Given the description of an element on the screen output the (x, y) to click on. 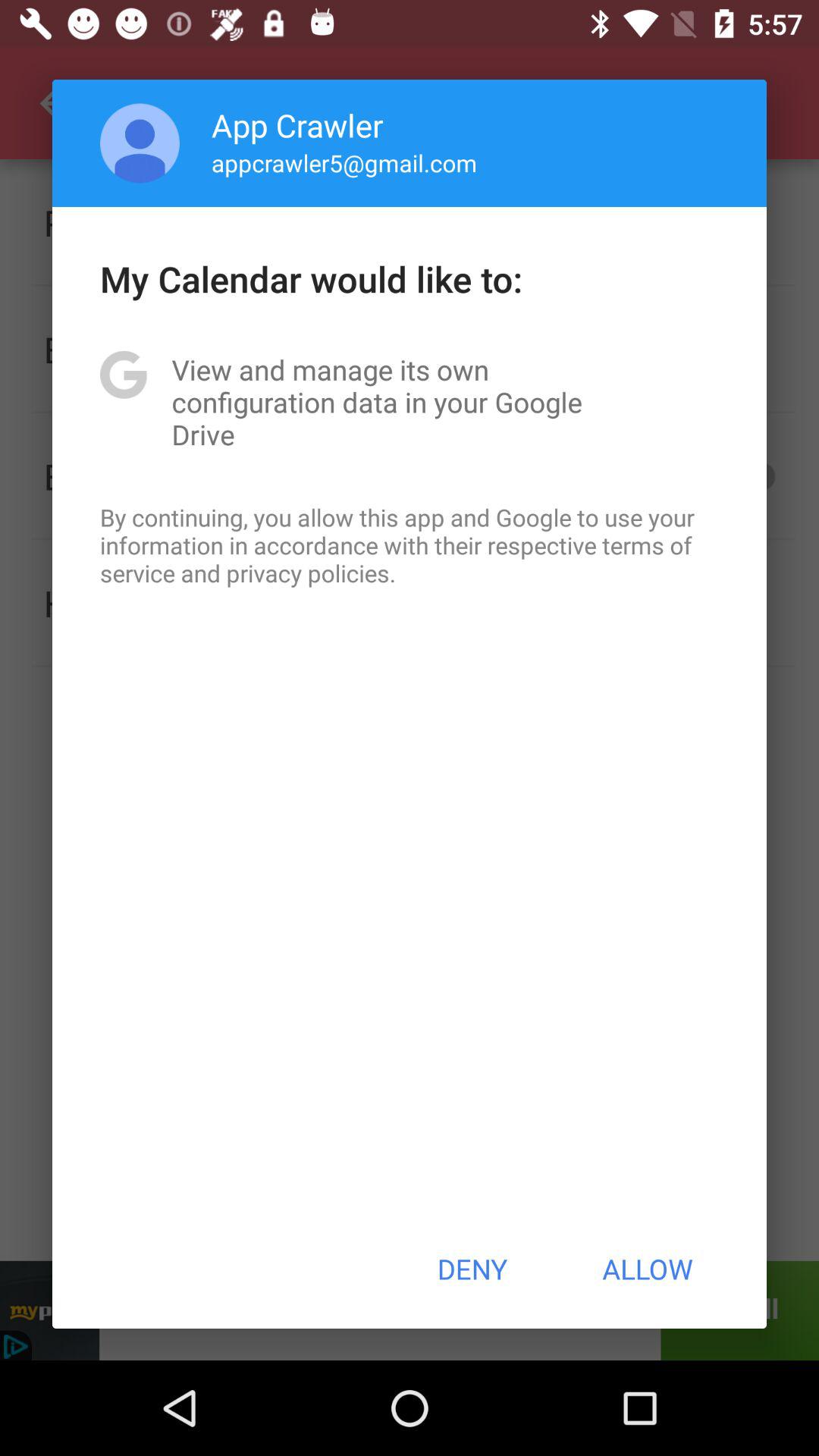
press the item to the left of allow item (471, 1268)
